Given the description of an element on the screen output the (x, y) to click on. 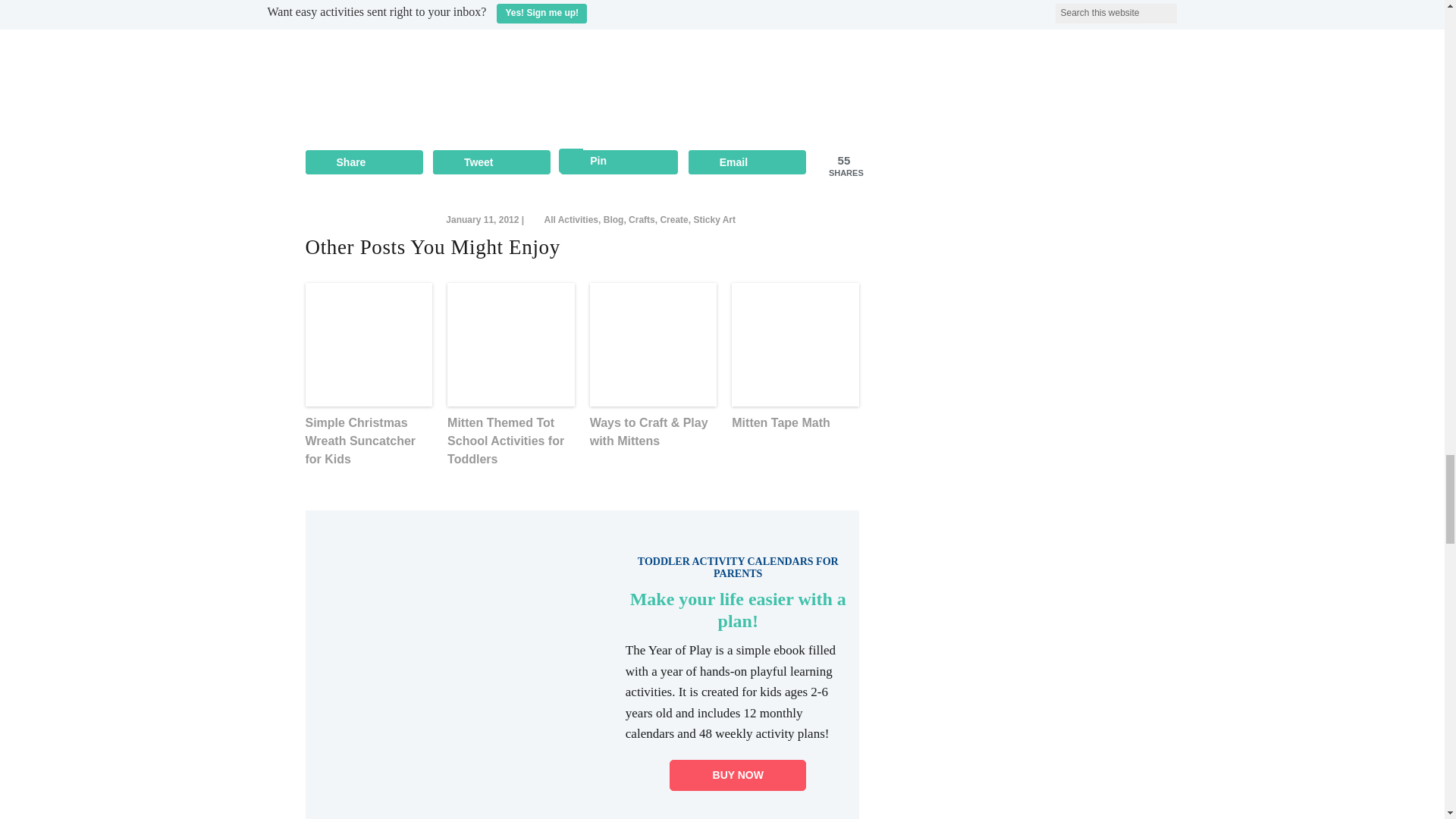
Click to open in new window (491, 161)
Click to open in new window (363, 161)
Click to open in new window (747, 161)
Save to Pinterest (619, 161)
